Given the description of an element on the screen output the (x, y) to click on. 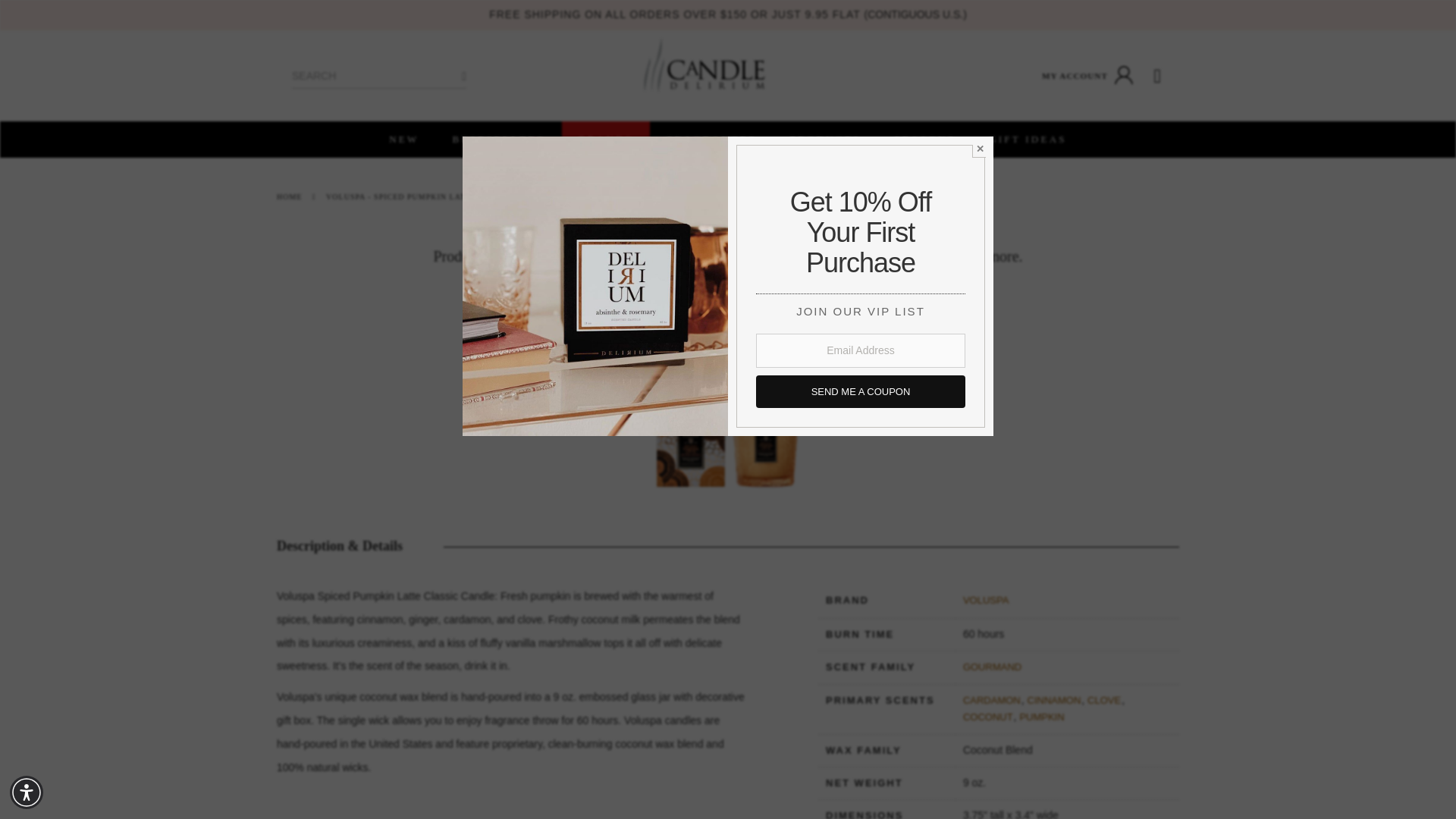
SEND ME A COUPON (847, 348)
BESTSELLERS (498, 139)
MY ACCOUNT (1089, 75)
Decline Offer (980, 148)
Accessibility Menu (26, 792)
NEW (403, 139)
CandleDelirium Candles (704, 65)
SEND ME A COUPON (860, 390)
